Given the description of an element on the screen output the (x, y) to click on. 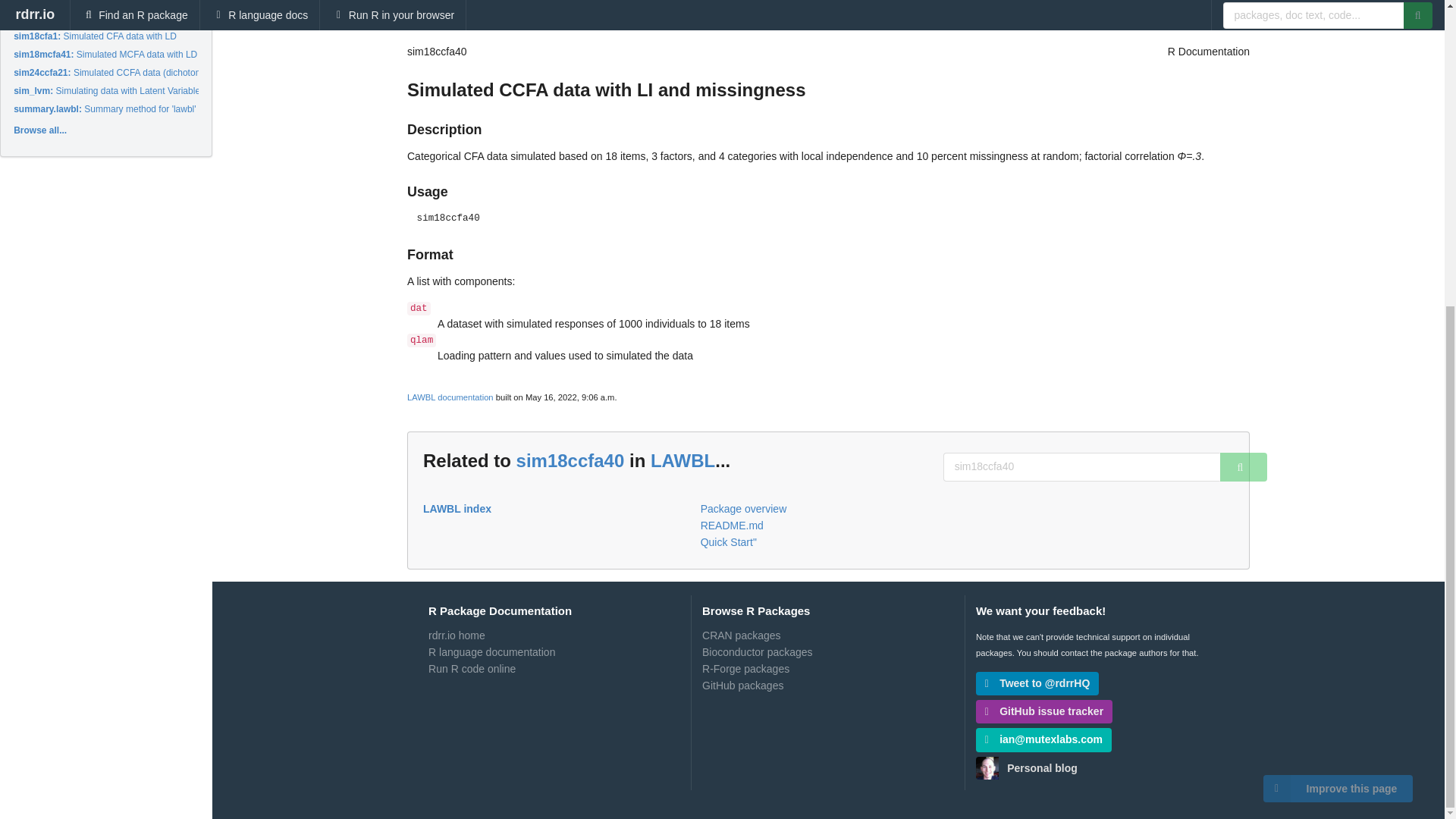
sim18cfa0: Simulated CFA data with LI (92, 18)
LAWBL documentation (450, 397)
README.md (828, 524)
Advertisement (1135, 22)
sim18cfa1: Simulated CFA data with LD (94, 36)
LAWBL index (551, 508)
Package overview (828, 509)
summary.lawbl: Summary method for 'lawbl' objects (120, 109)
Browse all... (39, 130)
LAWBL (682, 460)
sim18ccfa40 (570, 460)
sim18ccfa41: Simulated CCFA data with LD and missingness (138, 2)
sim18mcfa41: Simulated MCFA data with LD and Missingness (140, 54)
